Given the description of an element on the screen output the (x, y) to click on. 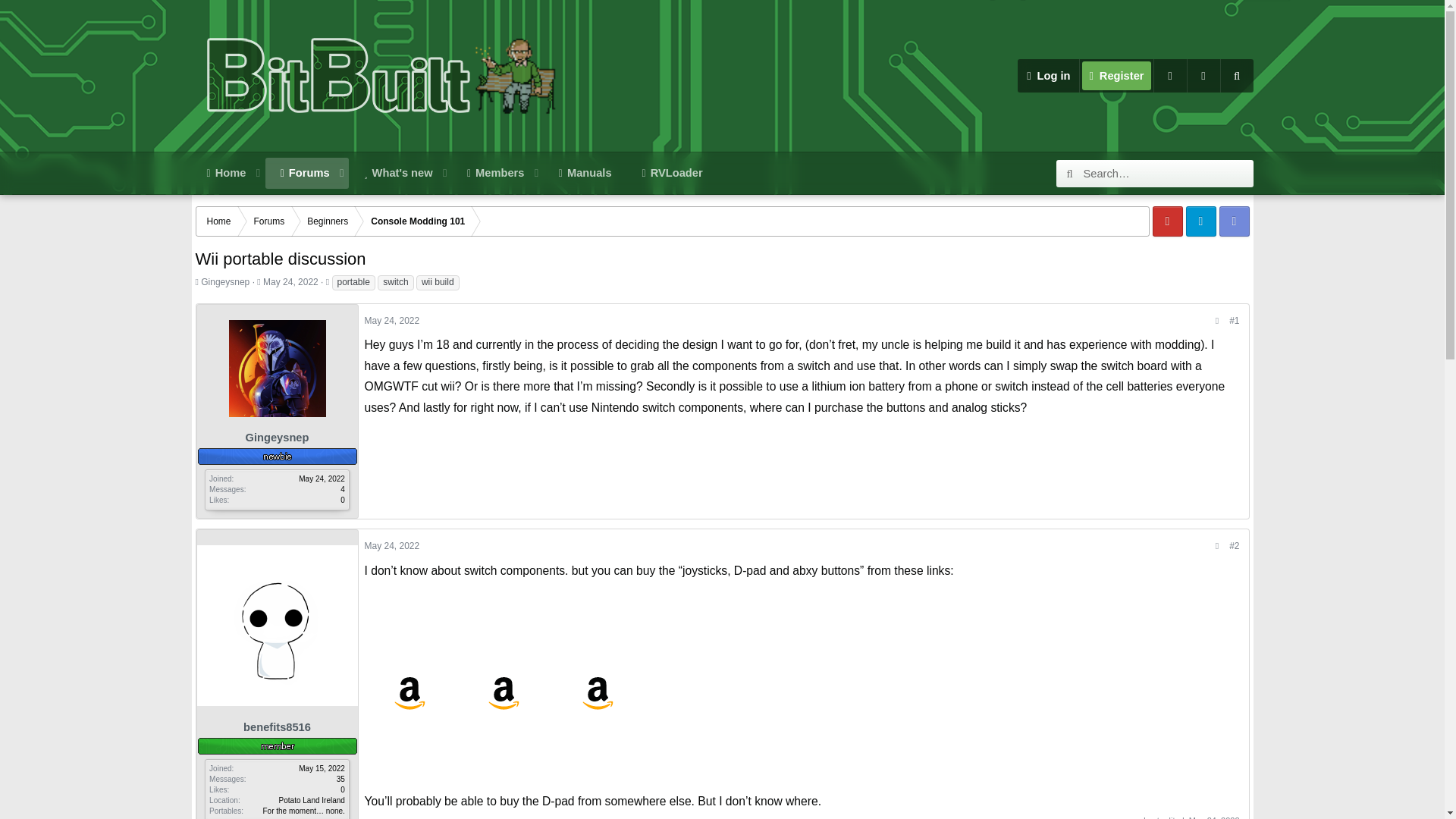
What's new (398, 173)
Forums (304, 173)
Log in (453, 173)
Home (1047, 75)
May 24, 2022 at 11:01 PM (225, 173)
Register (391, 545)
May 24, 2022 at 10:55 PM (1115, 75)
Manuals (453, 190)
Members (290, 281)
May 24, 2022 at 11:09 PM (585, 173)
May 24, 2022 at 10:55 PM (494, 173)
